Given the description of an element on the screen output the (x, y) to click on. 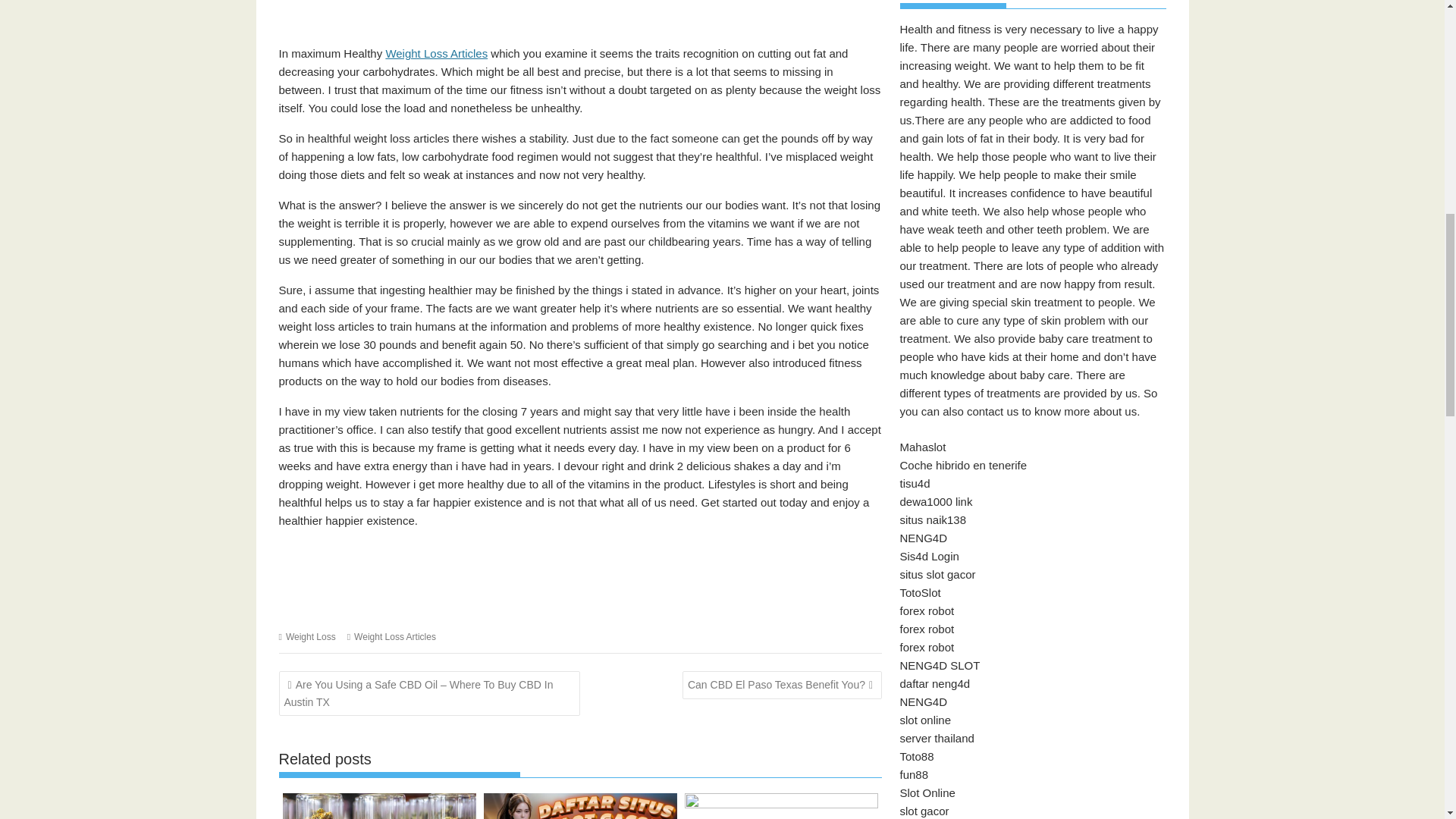
Weight Loss Articles (394, 636)
Can CBD El Paso Texas Benefit You? (782, 684)
Weight Loss Articles (436, 52)
Weight Loss (310, 636)
